Given the description of an element on the screen output the (x, y) to click on. 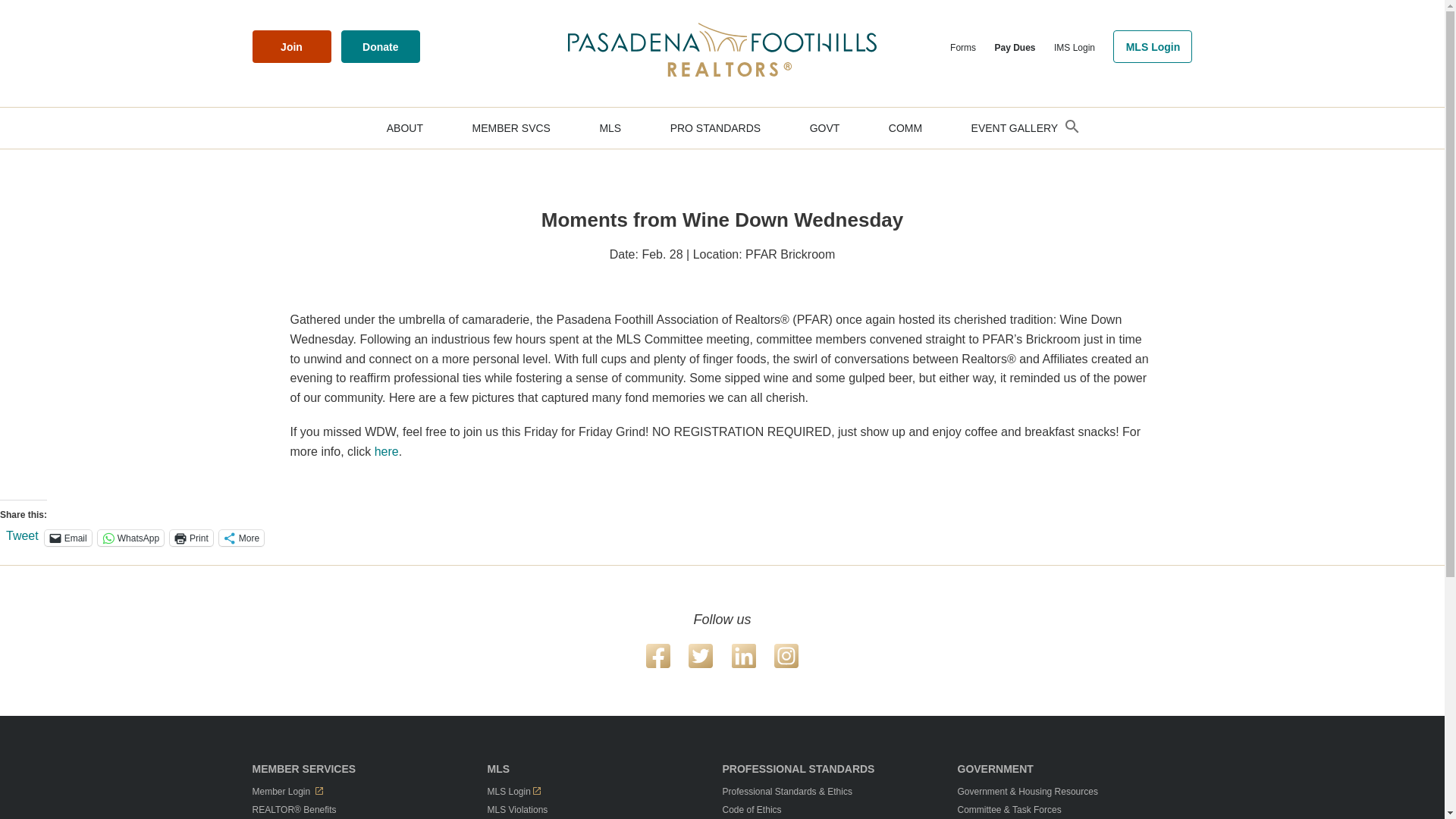
Click to email a link to a friend (68, 537)
Click to print (191, 537)
Click to share on WhatsApp (130, 537)
